Given the description of an element on the screen output the (x, y) to click on. 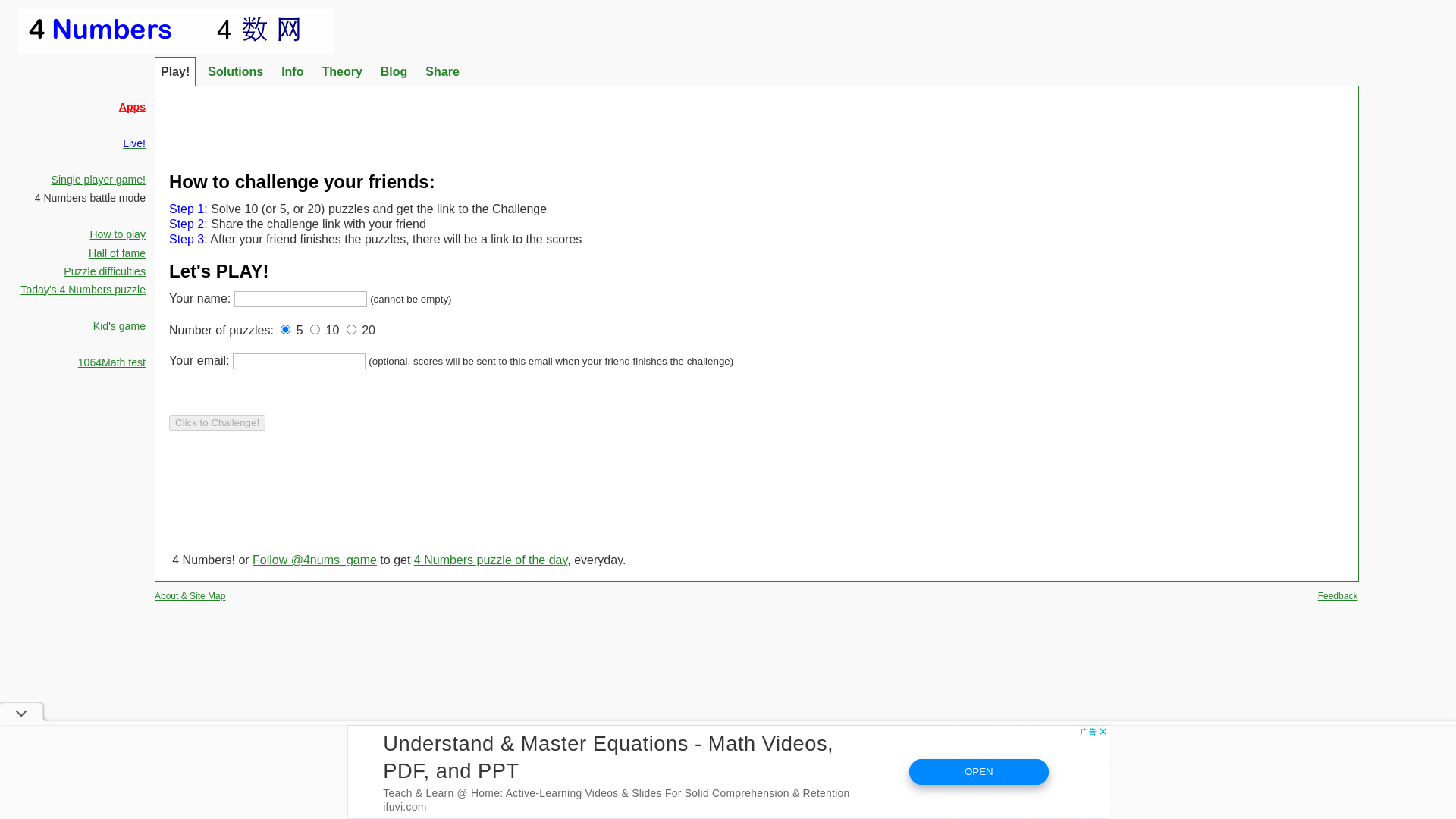
Theory Element type: text (341, 71)
Feedback Element type: text (1337, 595)
Info Element type: text (292, 71)
Solutions Element type: text (235, 71)
Share Element type: text (441, 71)
4 Numbers puzzle of the day Element type: text (490, 559)
Blog Element type: text (394, 71)
Click to Challenge! Element type: text (217, 422)
About & Site Map Element type: text (189, 595)
Follow @4nums_game Element type: text (314, 559)
Advertisement Element type: hover (756, 120)
